Given the description of an element on the screen output the (x, y) to click on. 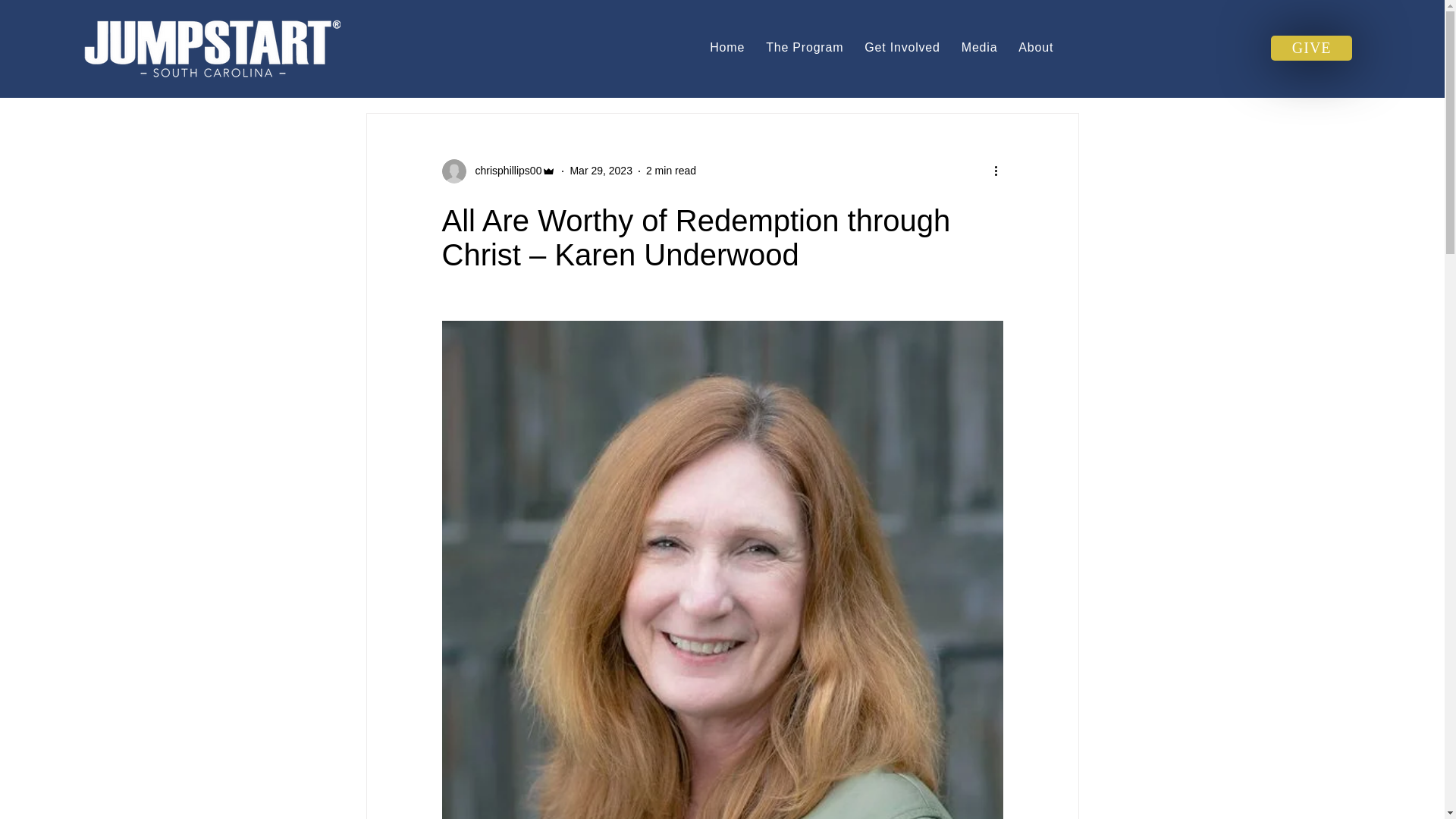
Get Involved (902, 47)
2 min read (670, 170)
Home (726, 47)
The Program (804, 47)
Mar 29, 2023 (600, 170)
chrisphillips00 (503, 170)
